Given the description of an element on the screen output the (x, y) to click on. 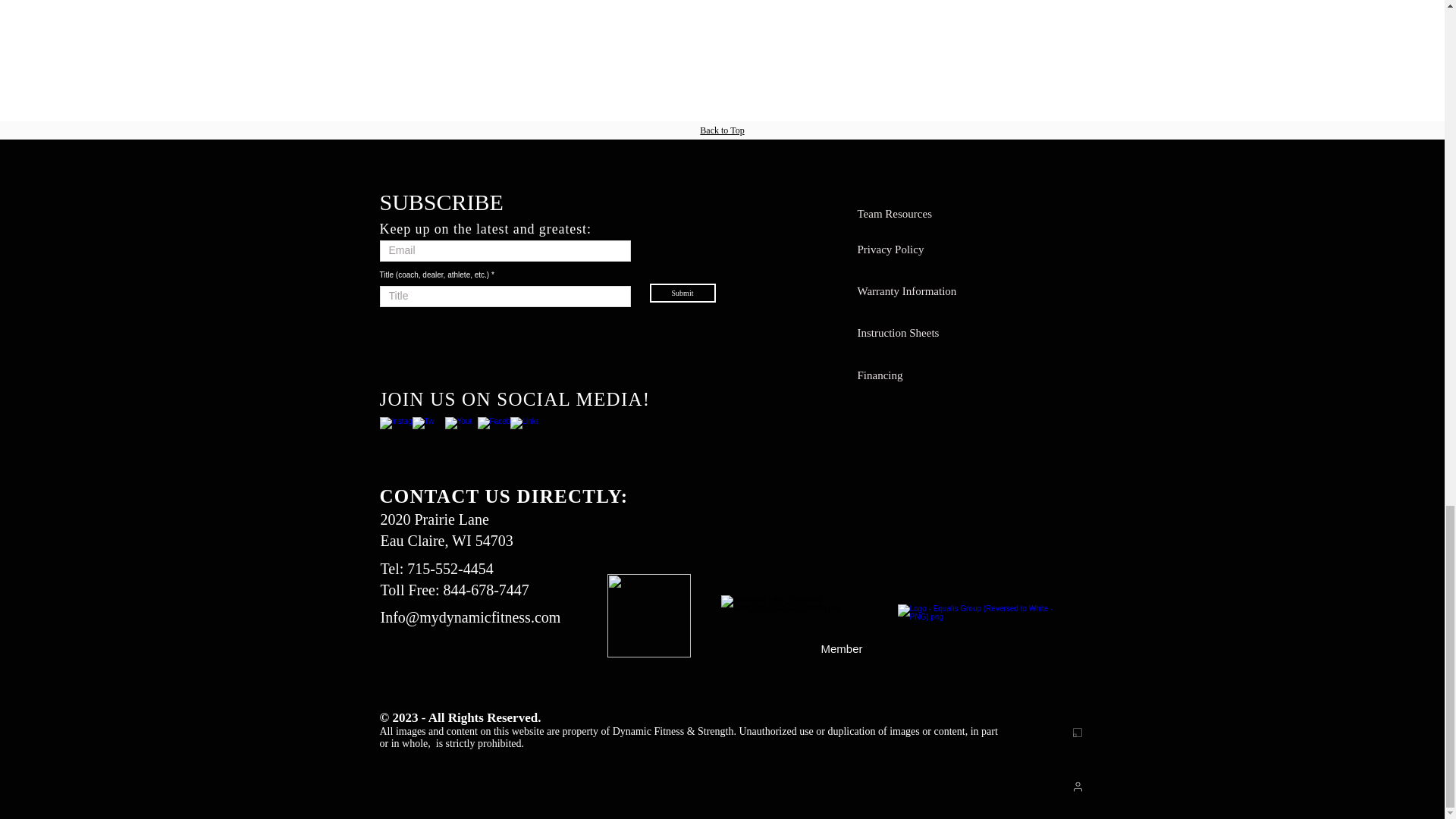
gsa-logo-png-transparent.png (648, 615)
